Given the description of an element on the screen output the (x, y) to click on. 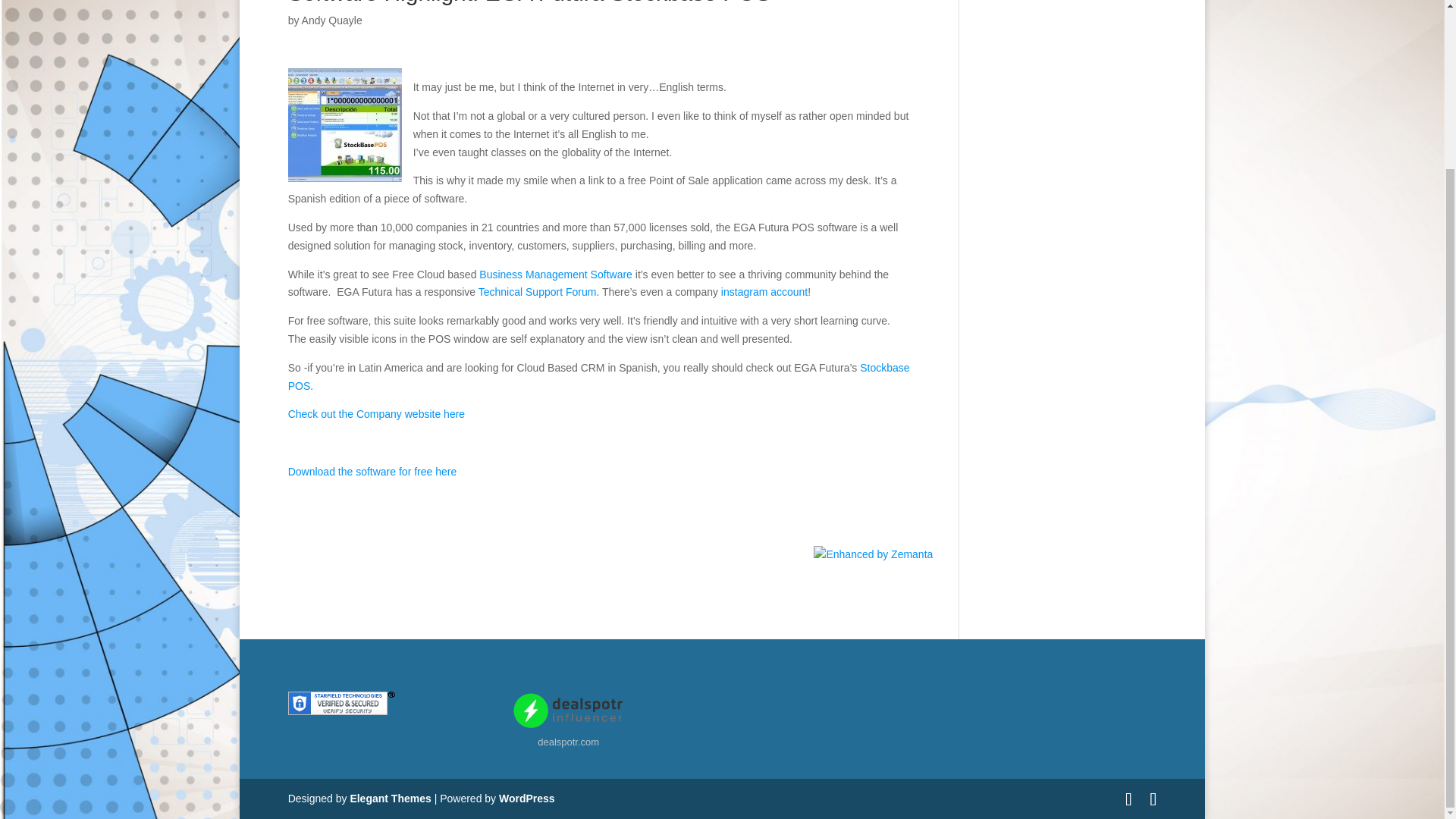
Premium WordPress Themes (389, 798)
Stockbase POS (599, 376)
Elegant Themes (389, 798)
Check out the Company website here (376, 413)
instagram account (764, 291)
WordPress (526, 798)
Business Management Software (555, 274)
dealspotr.com (567, 741)
Download the software for free here (372, 471)
EGA Futura Instagram (764, 291)
